Given the description of an element on the screen output the (x, y) to click on. 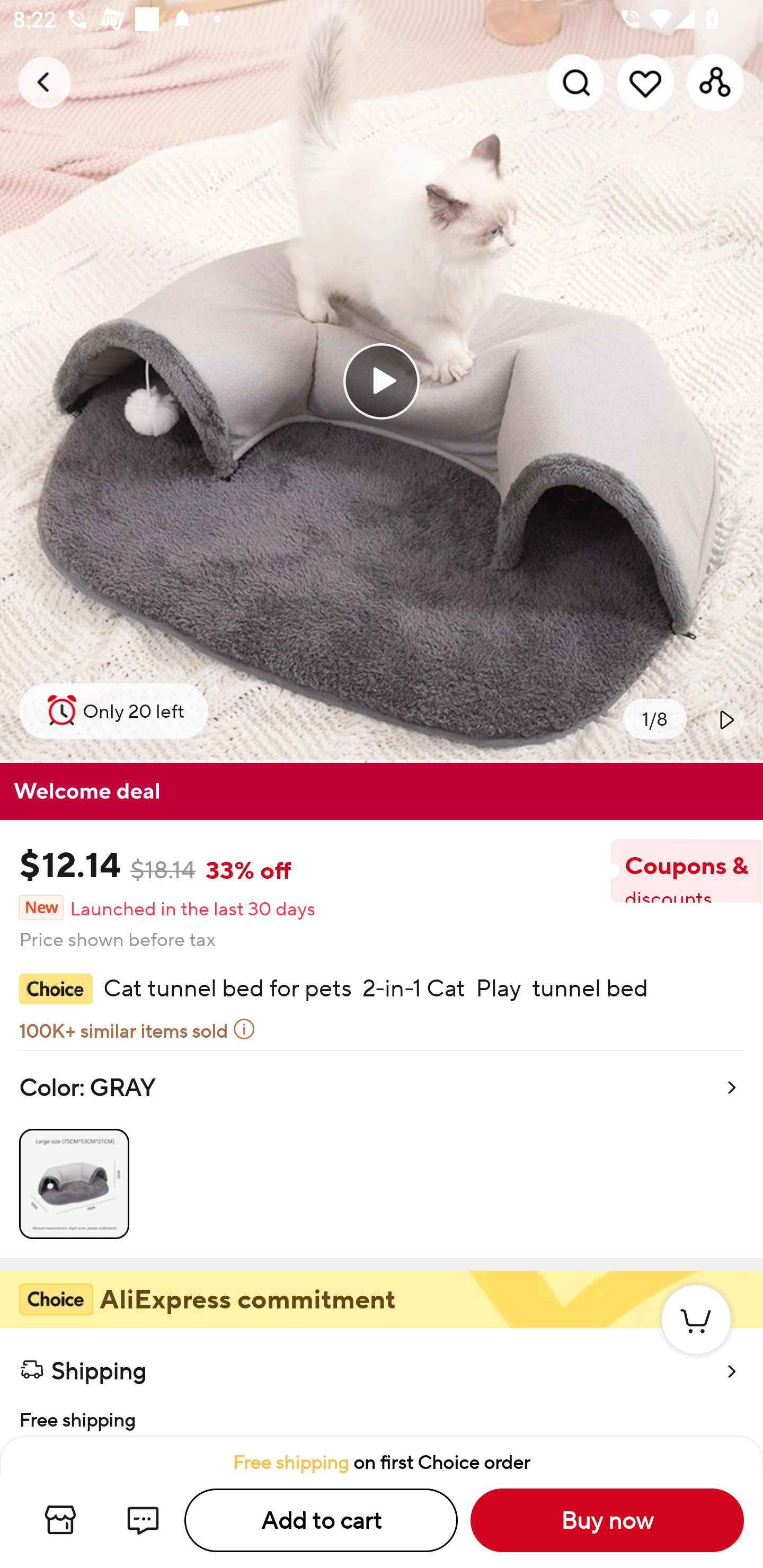
0.0 (381, 381)
Navigate up (44, 82)
 (724, 719)
Color: GRAY  (381, 1153)
Shipping  Free shipping  (381, 1382)
Free shipping  (381, 1414)
Add to cart (320, 1520)
Buy now (606, 1520)
